Given the description of an element on the screen output the (x, y) to click on. 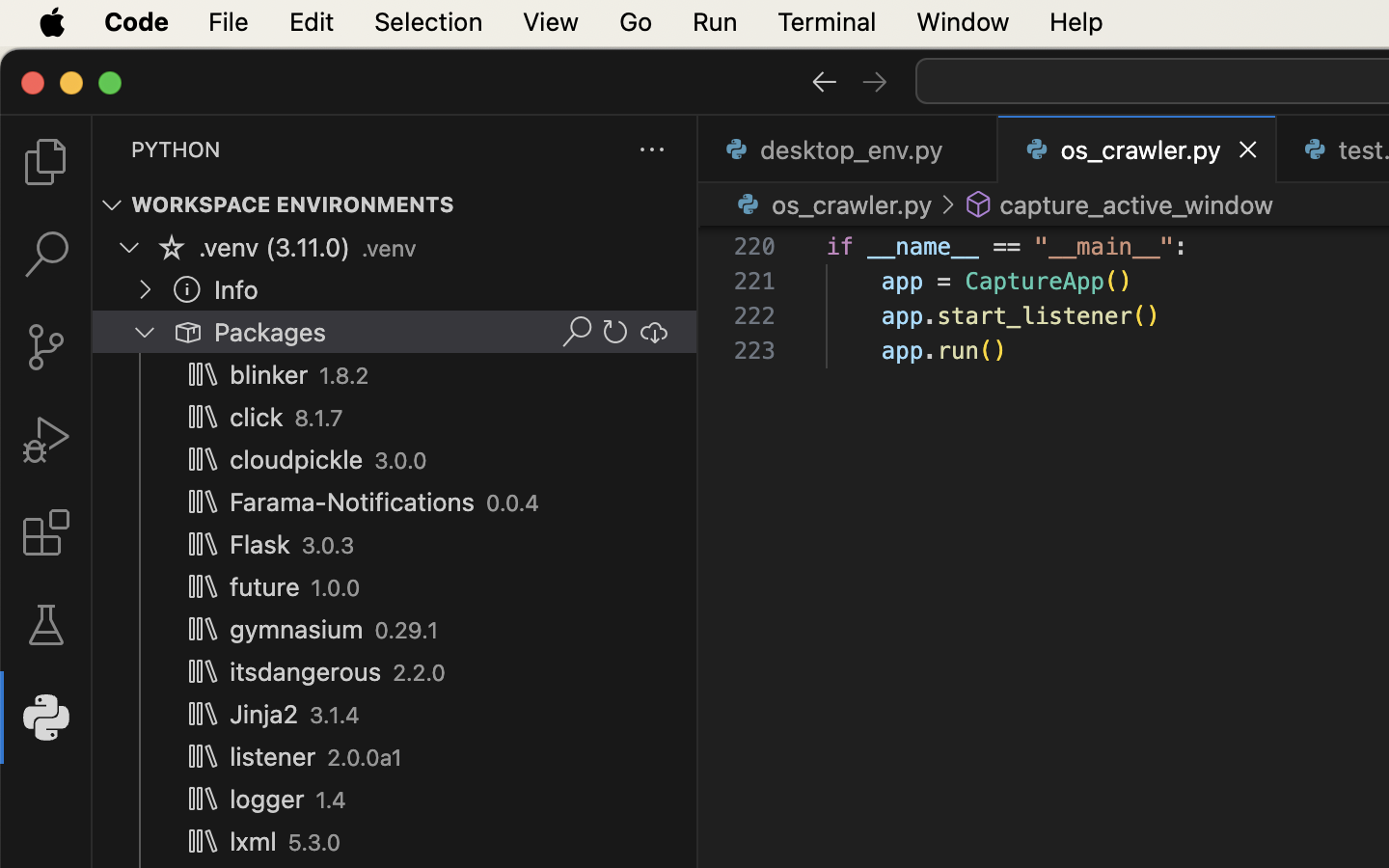
5.3.0 Element type: AXStaticText (314, 842)
0  Element type: AXRadioButton (46, 346)
0.0.4 Element type: AXStaticText (513, 502)
3.0.0 Element type: AXStaticText (401, 460)
 Element type: AXGroup (46, 161)
